Given the description of an element on the screen output the (x, y) to click on. 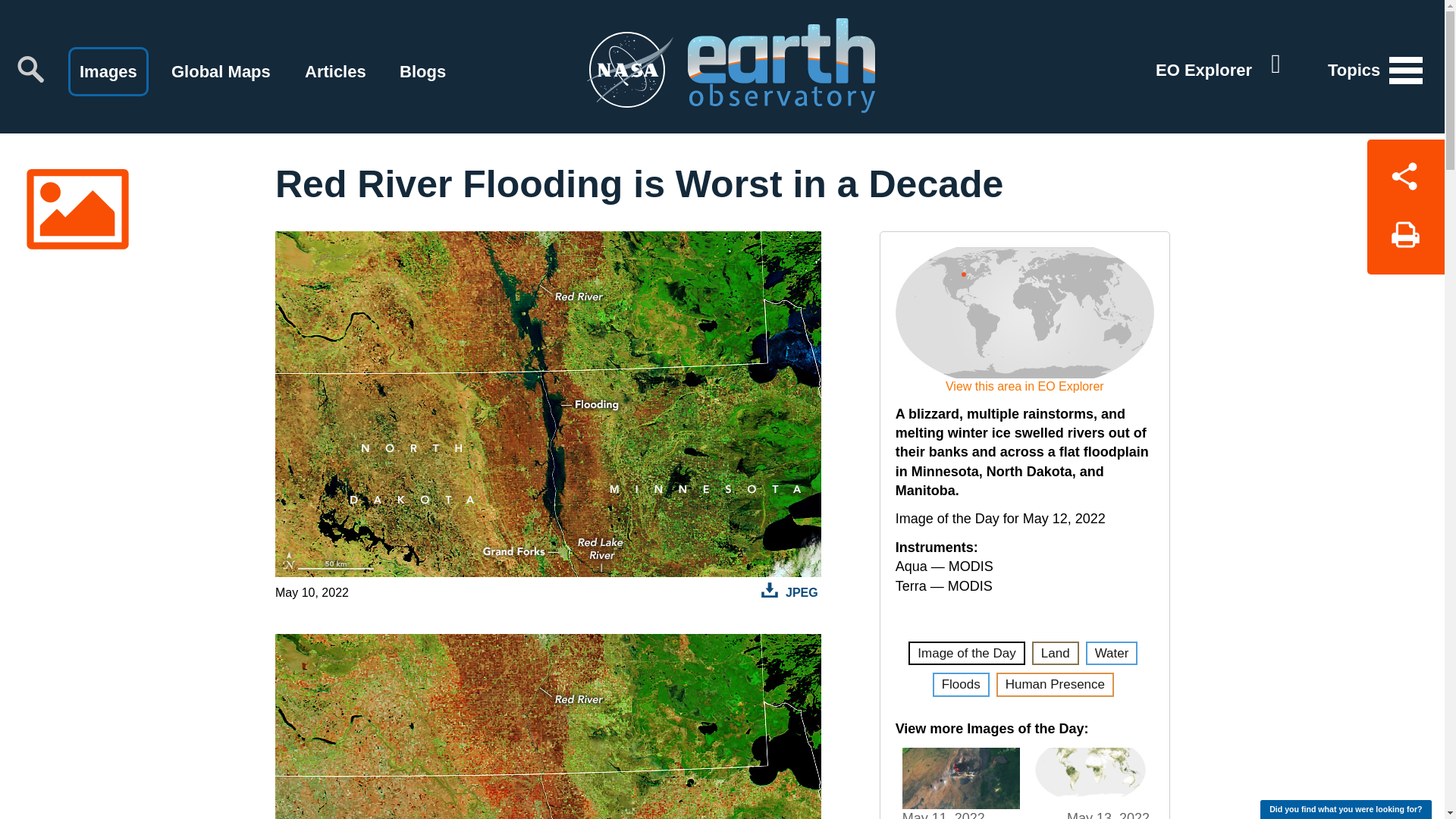
pointer (963, 271)
Print (1405, 240)
Search (30, 69)
Share (1405, 173)
